Given the description of an element on the screen output the (x, y) to click on. 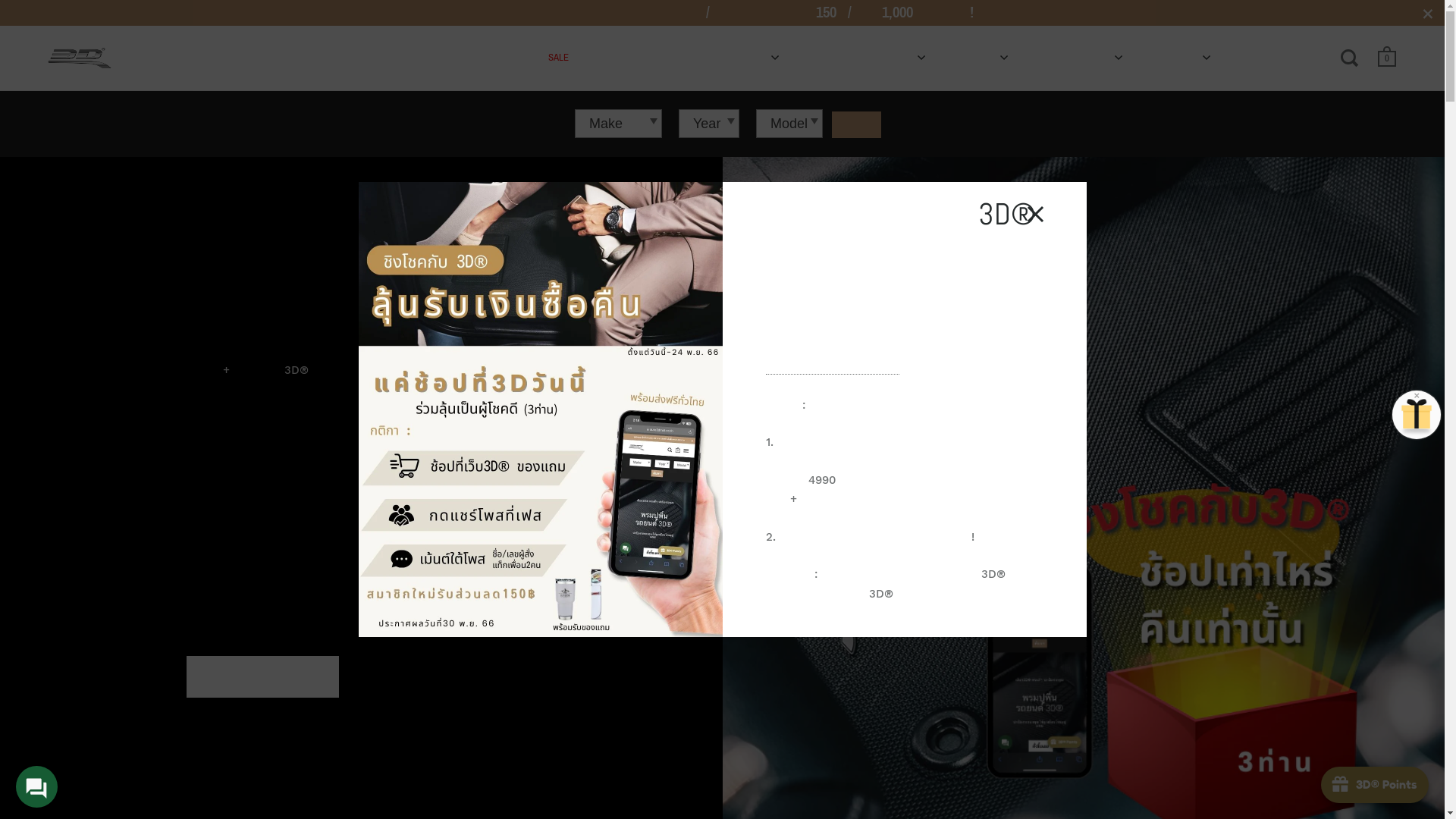
SALE Element type: text (558, 57)
0 Element type: text (1386, 59)
